Given the description of an element on the screen output the (x, y) to click on. 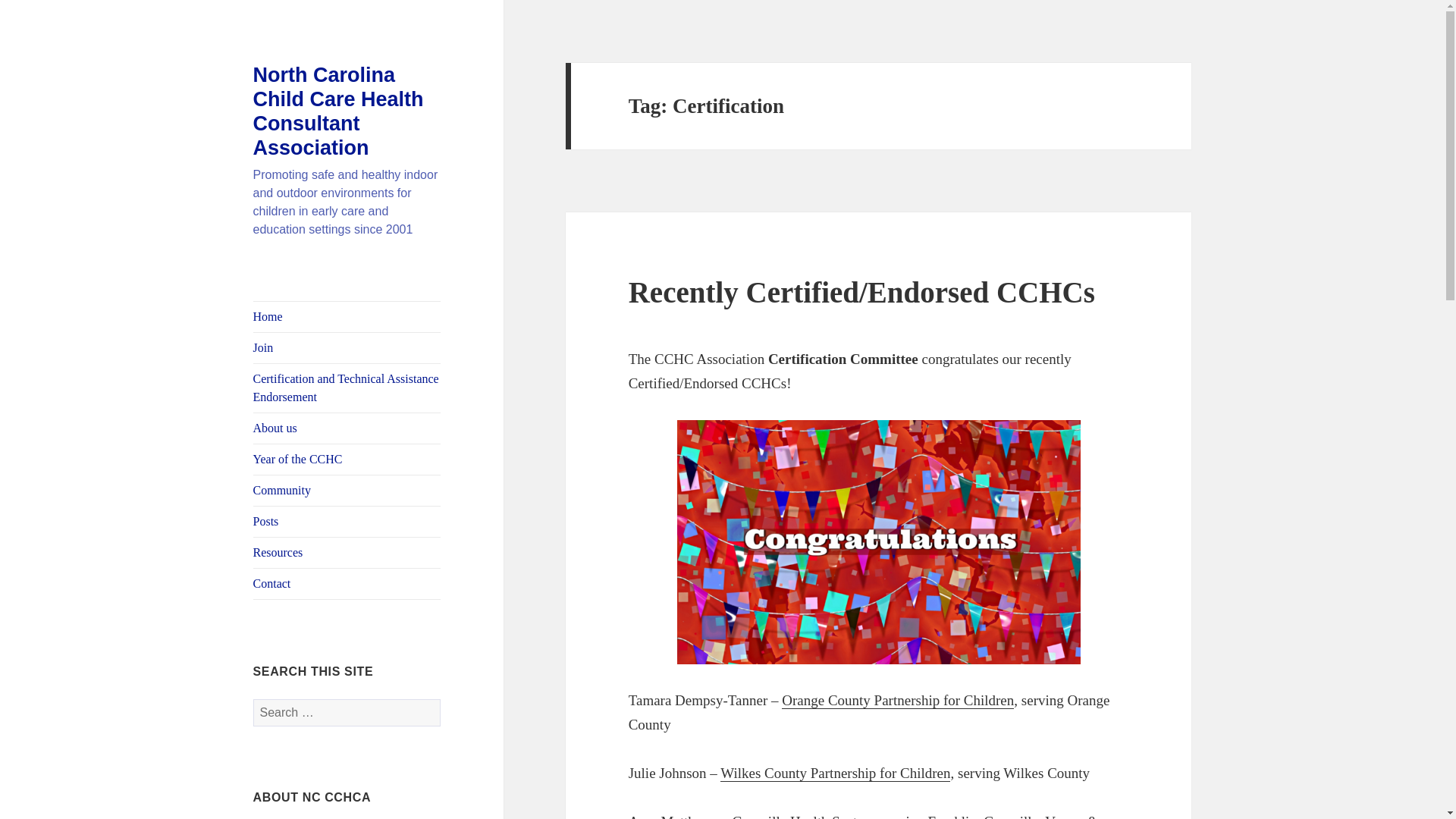
Wilkes County Partnership for Children (835, 773)
Community (347, 490)
About us (347, 428)
Orange County Partnership for Children (897, 700)
Contact (347, 583)
Granville Health System (803, 816)
Year of the CCHC (347, 459)
North Carolina Child Care Health Consultant Association (338, 110)
Resources (347, 552)
Posts (347, 521)
Join (347, 347)
Certification and Technical Assistance Endorsement (347, 387)
